Given the description of an element on the screen output the (x, y) to click on. 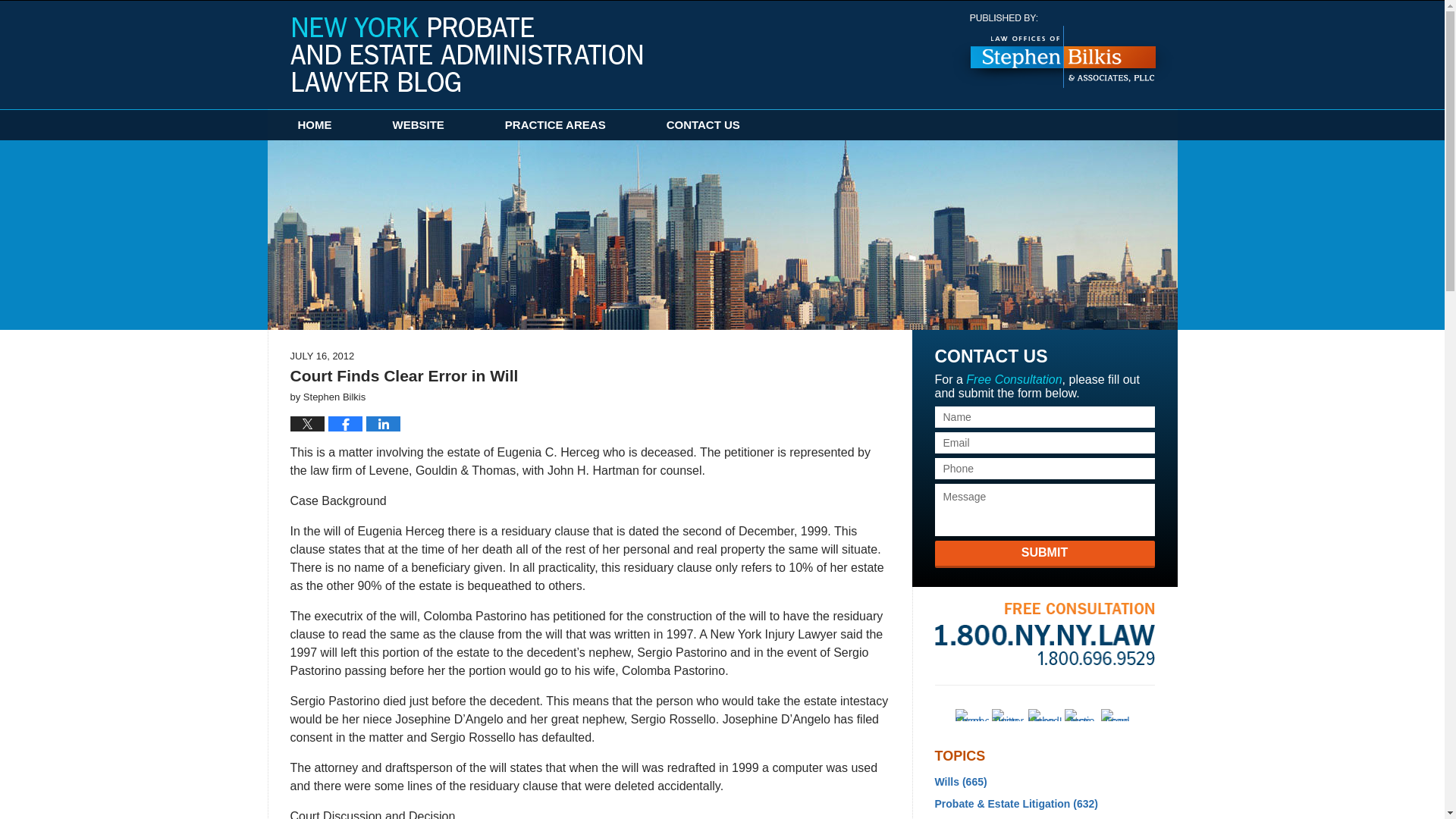
New York Probate and Estate Administration Lawyer Blog (465, 54)
Twitter (1008, 715)
HOME (313, 124)
WEBSITE (418, 124)
Justia (1080, 715)
Facebook (971, 715)
CONTACT US (703, 124)
LinkedIn (1044, 715)
SUBMIT (1044, 554)
PRACTICE AREAS (555, 124)
